Given the description of an element on the screen output the (x, y) to click on. 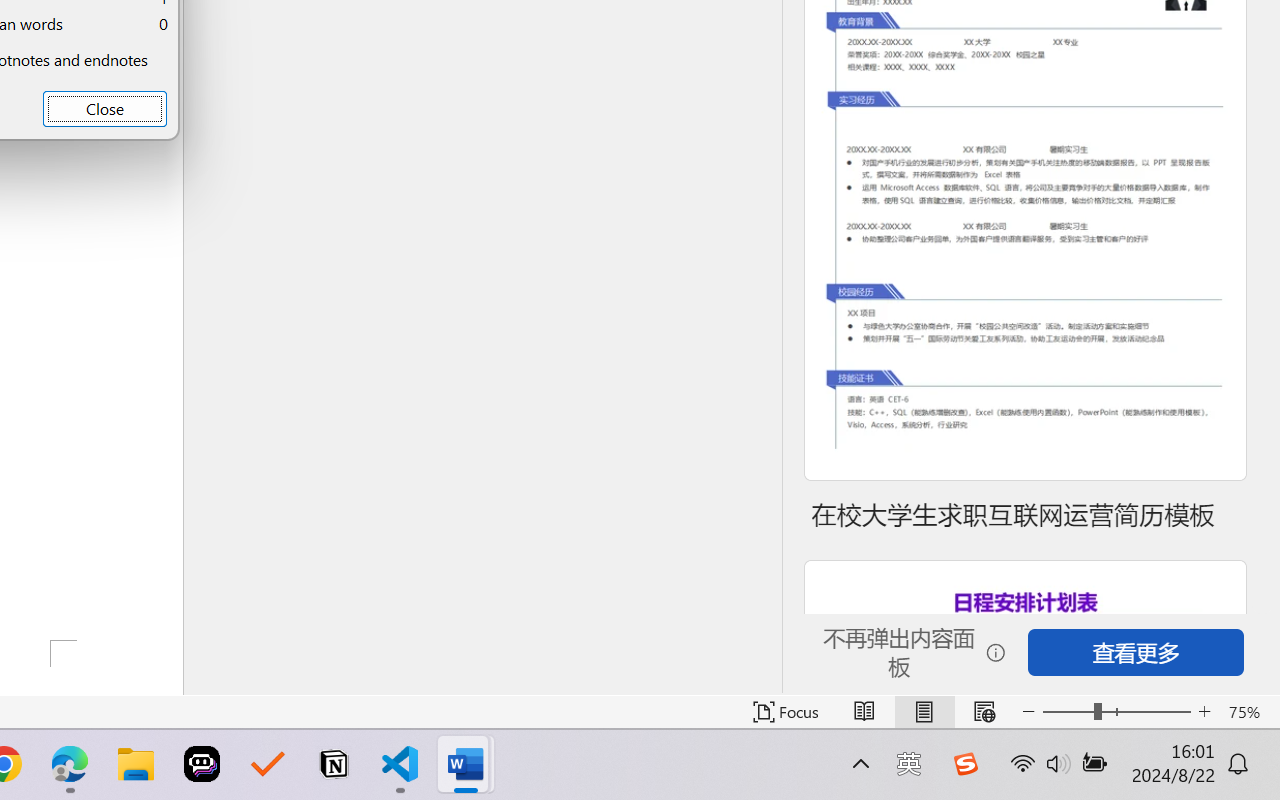
Read Mode (864, 712)
Class: Image (965, 764)
Poe (201, 764)
Web Layout (984, 712)
Close (104, 108)
Zoom (1116, 712)
